Given the description of an element on the screen output the (x, y) to click on. 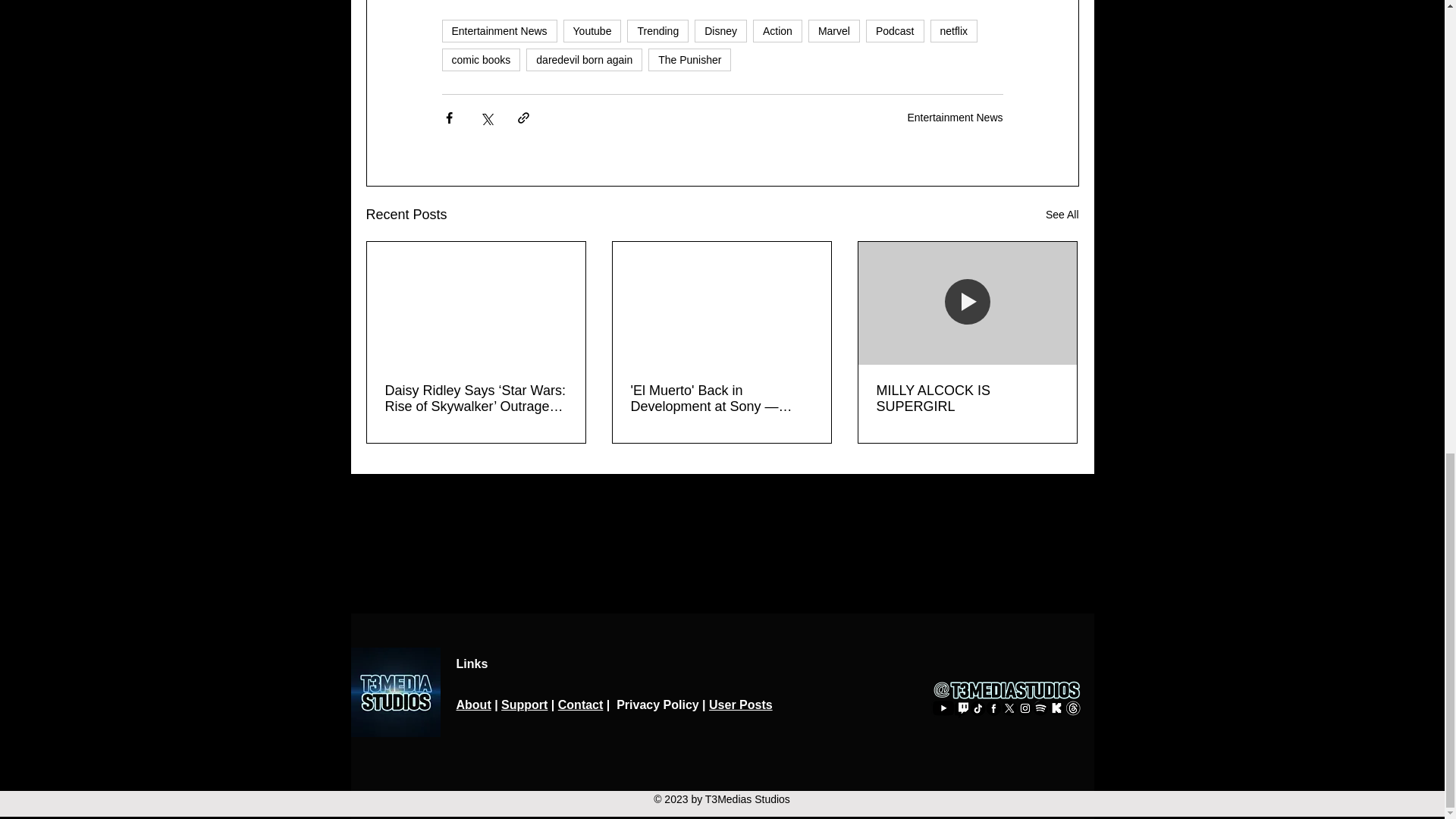
Action (777, 30)
Marvel (834, 30)
Youtube (592, 30)
netflix (954, 30)
Entertainment News (498, 30)
Disney (720, 30)
comic books (480, 59)
Trending (657, 30)
Podcast (895, 30)
